Given the description of an element on the screen output the (x, y) to click on. 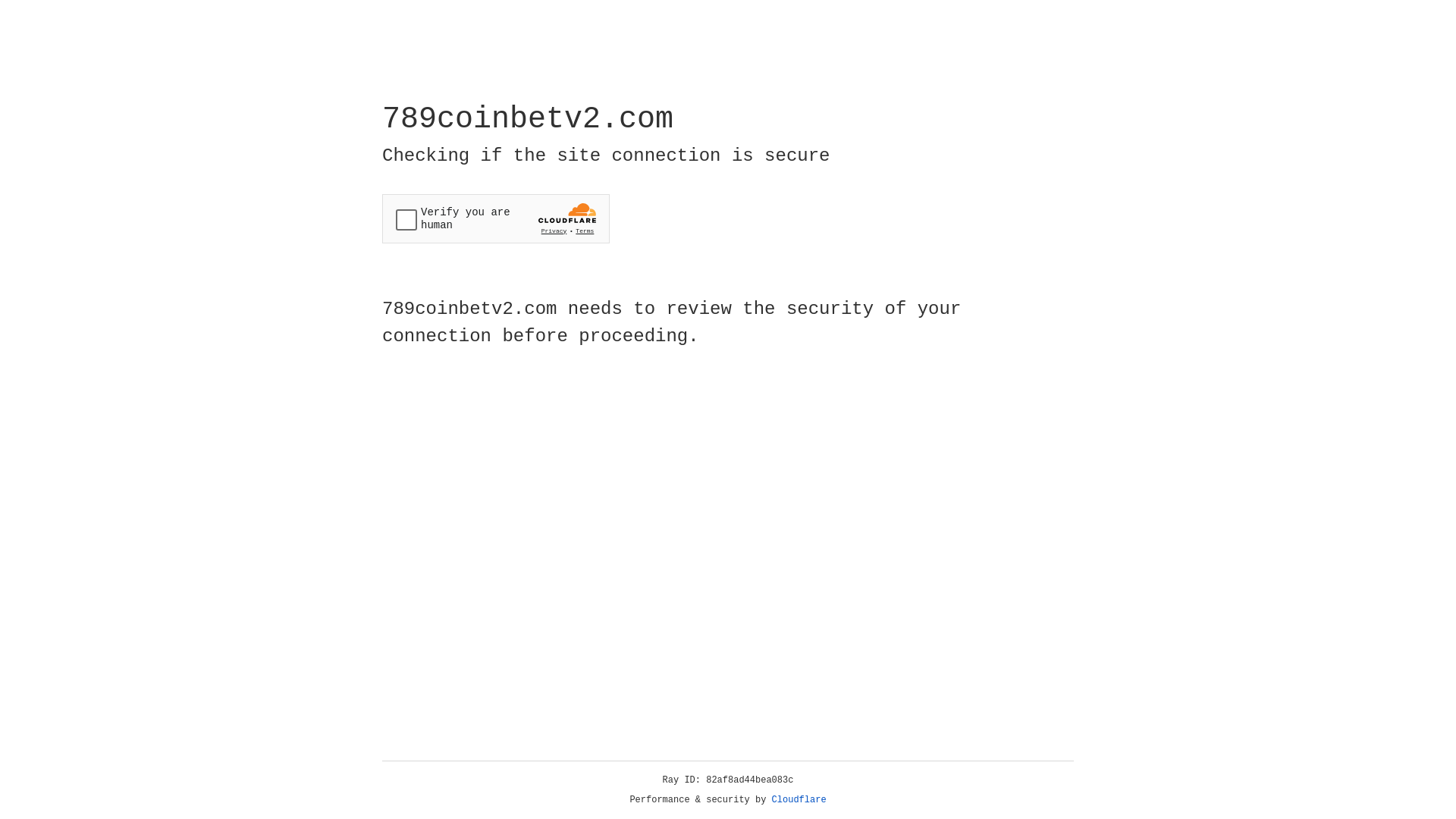
Cloudflare Element type: text (798, 799)
Widget containing a Cloudflare security challenge Element type: hover (495, 218)
